Given the description of an element on the screen output the (x, y) to click on. 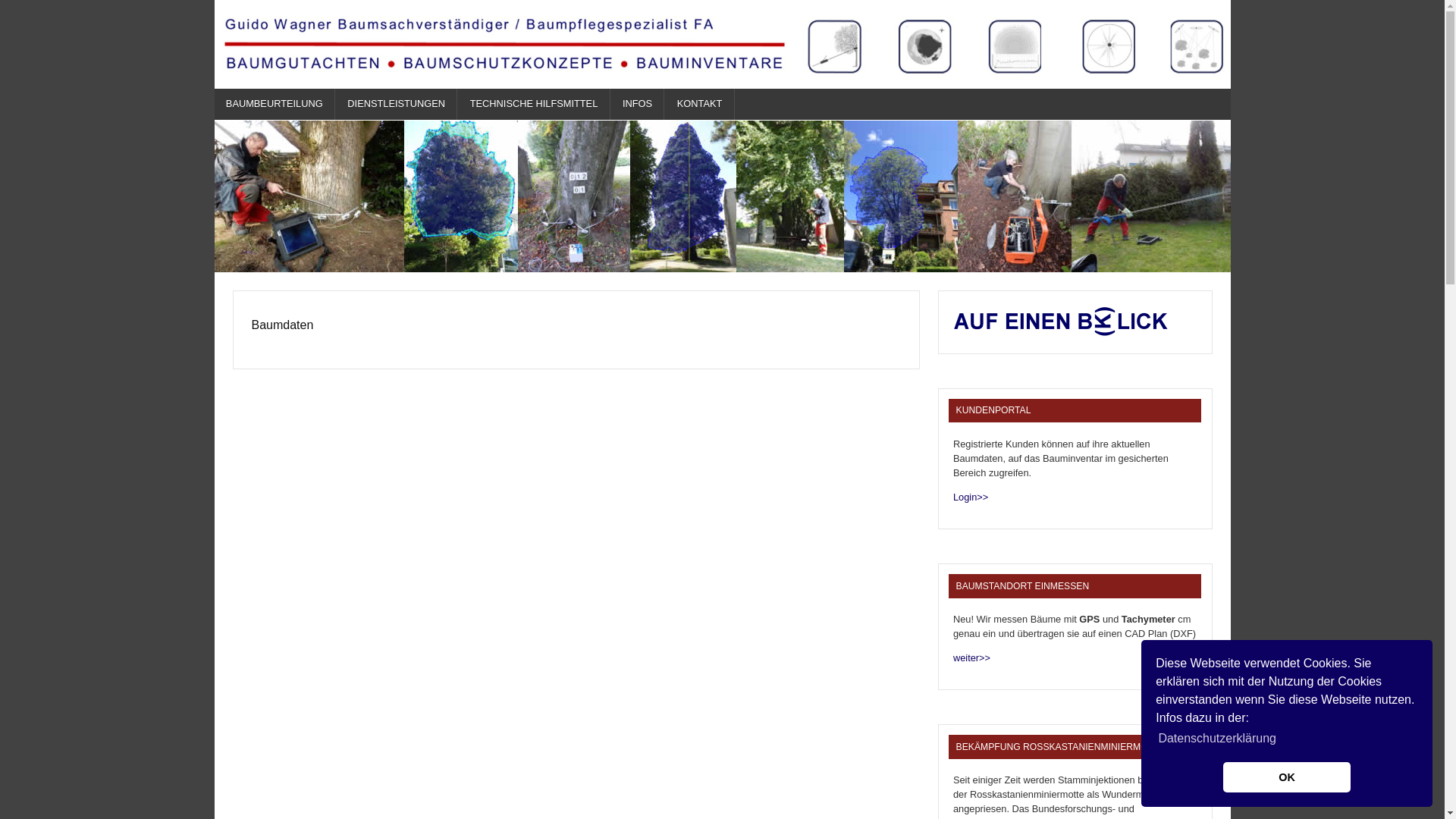
Login>> Element type: text (970, 496)
OK Element type: text (1286, 777)
DIENSTLEISTUNGEN Element type: text (396, 103)
KONTAKT Element type: text (699, 103)
TECHNISCHE HILFSMITTEL Element type: text (533, 103)
BAUMBEURTEILUNG Element type: text (273, 103)
INFOS Element type: text (638, 103)
weiter>> Element type: text (971, 657)
